Given the description of an element on the screen output the (x, y) to click on. 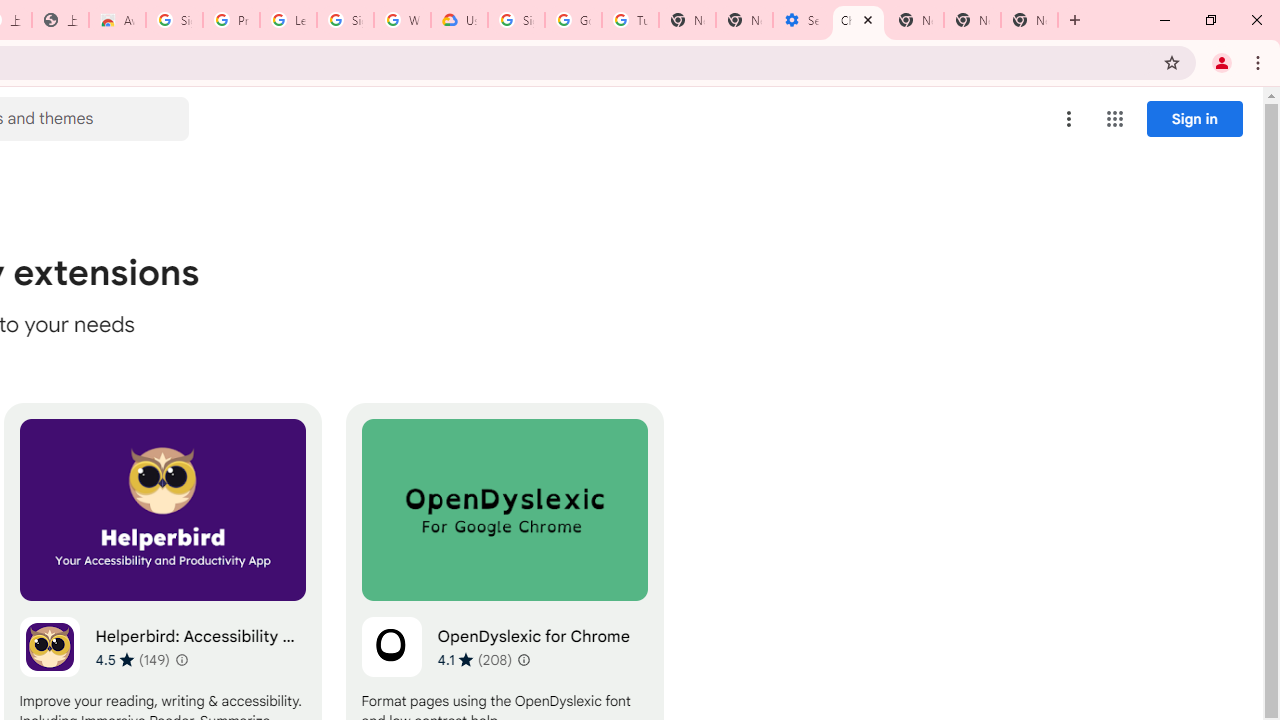
Turn cookies on or off - Computer - Google Account Help (630, 20)
Average rating 4.5 out of 5 stars. 149 ratings. (132, 659)
Who are Google's partners? - Privacy and conditions - Google (402, 20)
Chrome Web Store - Accessibility extensions (858, 20)
Sign in - Google Accounts (174, 20)
Sign in - Google Accounts (516, 20)
Average rating 4.1 out of 5 stars. 208 ratings. (474, 659)
More options menu (1069, 118)
Settings - Accessibility (801, 20)
